Given the description of an element on the screen output the (x, y) to click on. 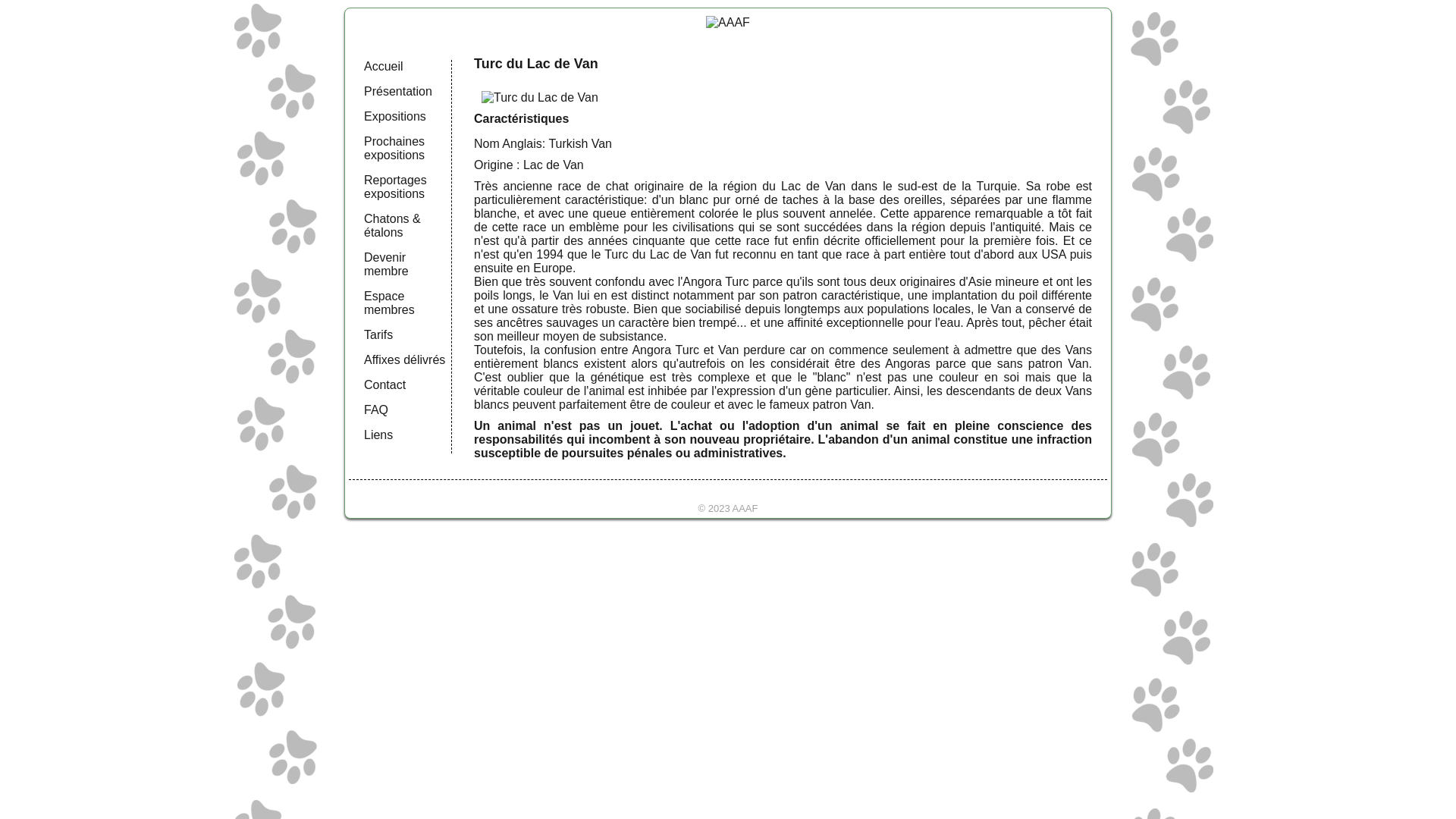
Espace membres Element type: text (389, 302)
Accueil Element type: text (383, 65)
Tarifs Element type: text (378, 334)
Reportages expositions Element type: text (395, 186)
Contact Element type: text (384, 384)
Devenir membre Element type: text (386, 264)
Prochaines expositions Element type: text (394, 147)
Expositions Element type: text (395, 115)
FAQ Element type: text (376, 409)
Liens Element type: text (378, 434)
